Given the description of an element on the screen output the (x, y) to click on. 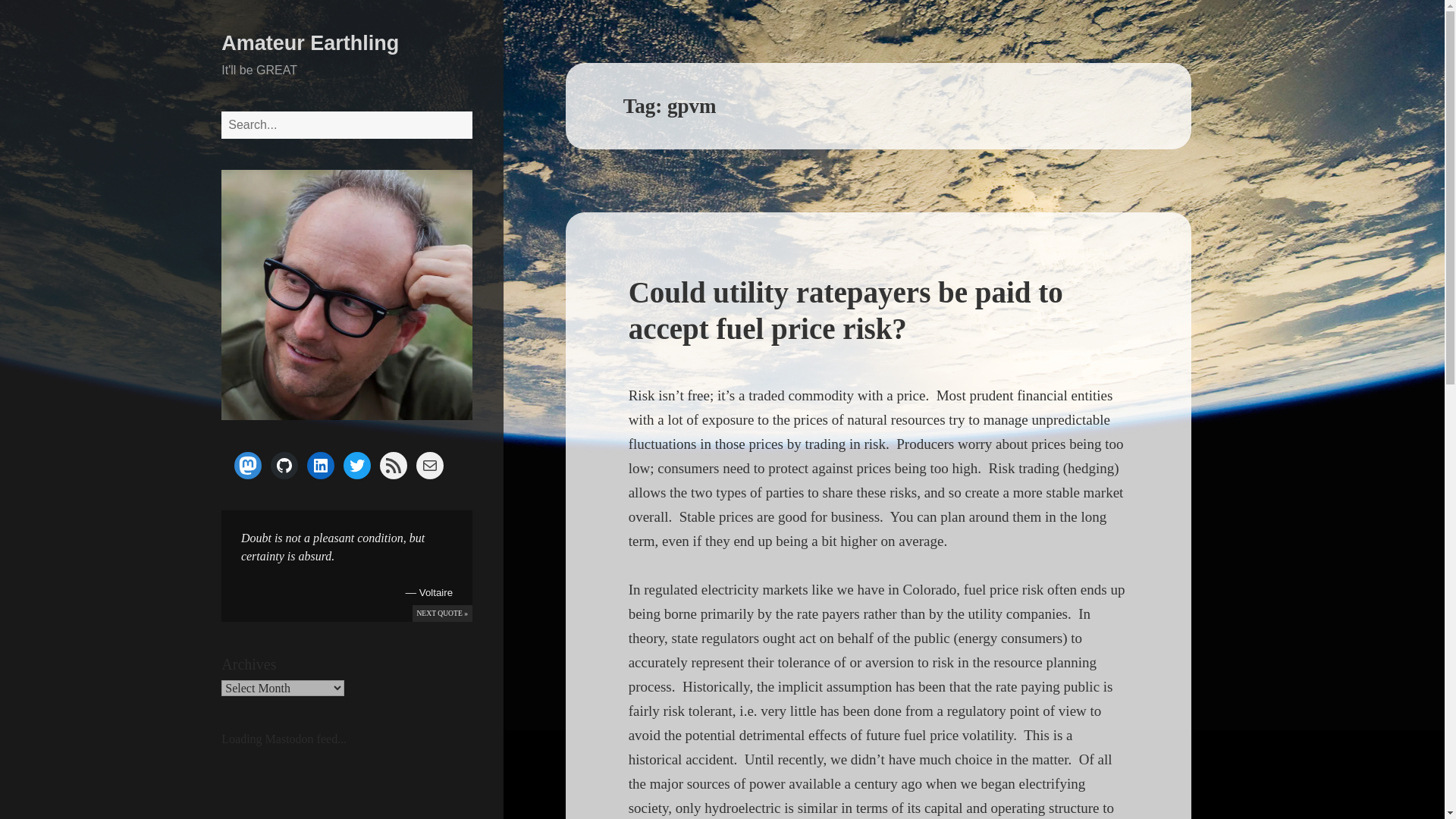
Amateur Earthling RSS Feed (393, 465)
Zane Selvans on LinkedIn (320, 465)
Zane Selvans on GitHub (284, 465)
Could utility ratepayers be paid to accept fuel price risk? (845, 310)
Email Zane Selvans (430, 465)
Zane Selvans on Mastodon (248, 465)
Zane Selvans on Twitter (357, 465)
Amateur Earthling (309, 42)
